Given the description of an element on the screen output the (x, y) to click on. 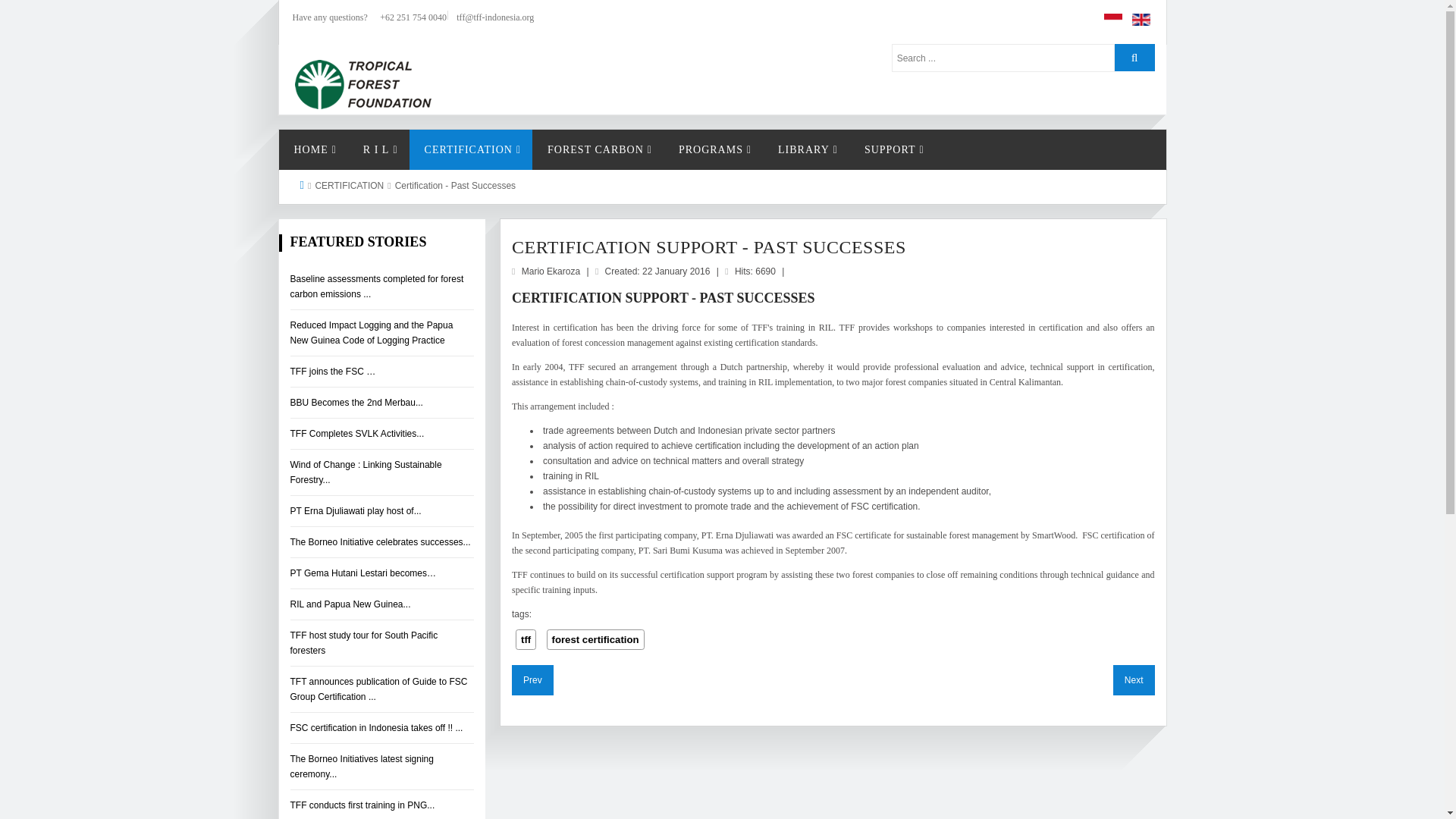
Search ... (1003, 58)
Indonesian (1112, 19)
CERTIFICATION (470, 149)
HOME (313, 149)
PROGRAMS (712, 149)
FOREST CARBON (597, 149)
R I L (378, 149)
Search ... (1003, 58)
